Given the description of an element on the screen output the (x, y) to click on. 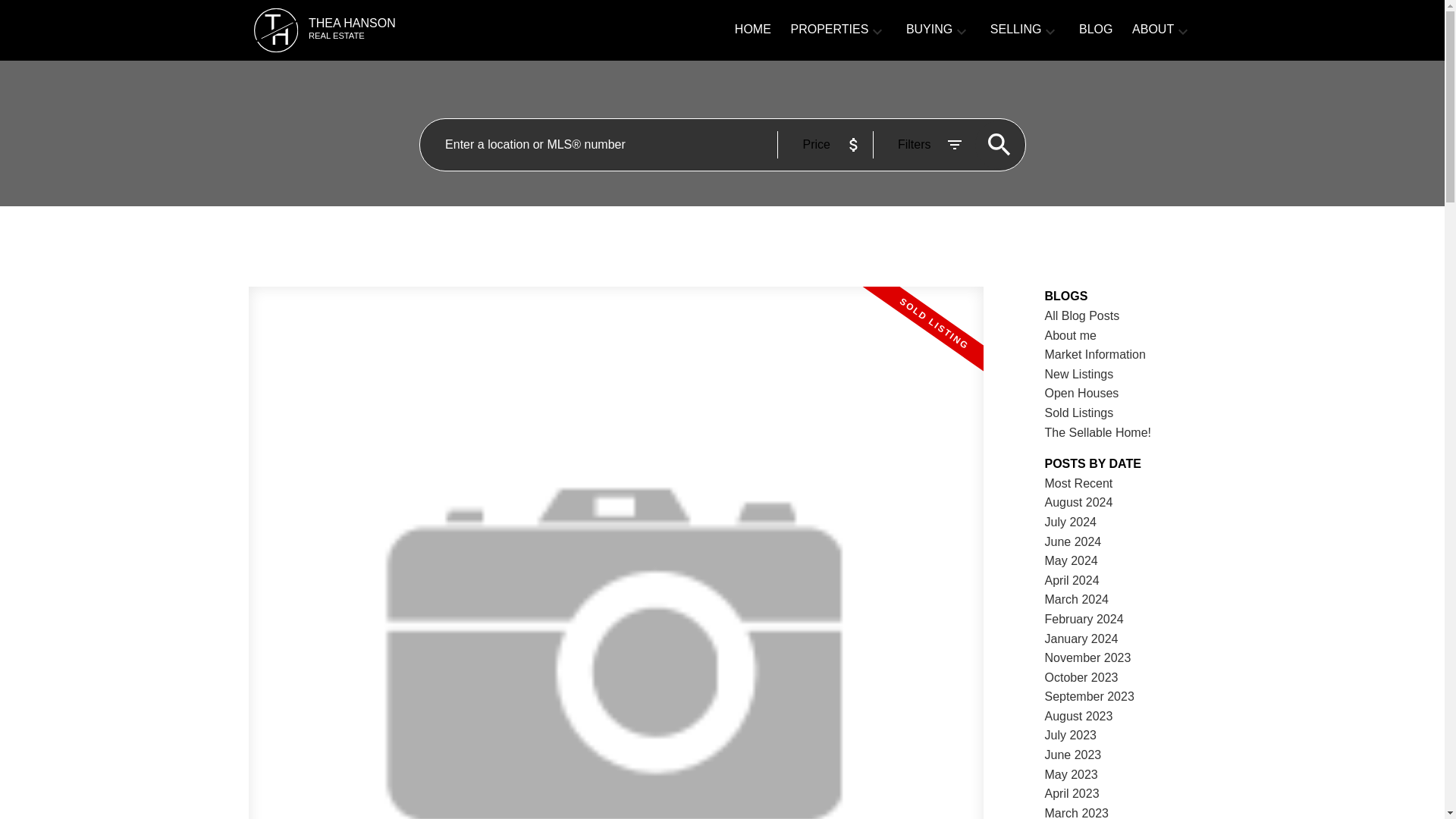
All Blog Posts (1082, 315)
Open Houses (406, 30)
Most Recent (1082, 392)
New Listings (1079, 482)
BLOG (1079, 373)
May 2024 (1095, 30)
November 2023 (1071, 560)
January 2024 (1088, 657)
Sold Listings (1081, 638)
